Given the description of an element on the screen output the (x, y) to click on. 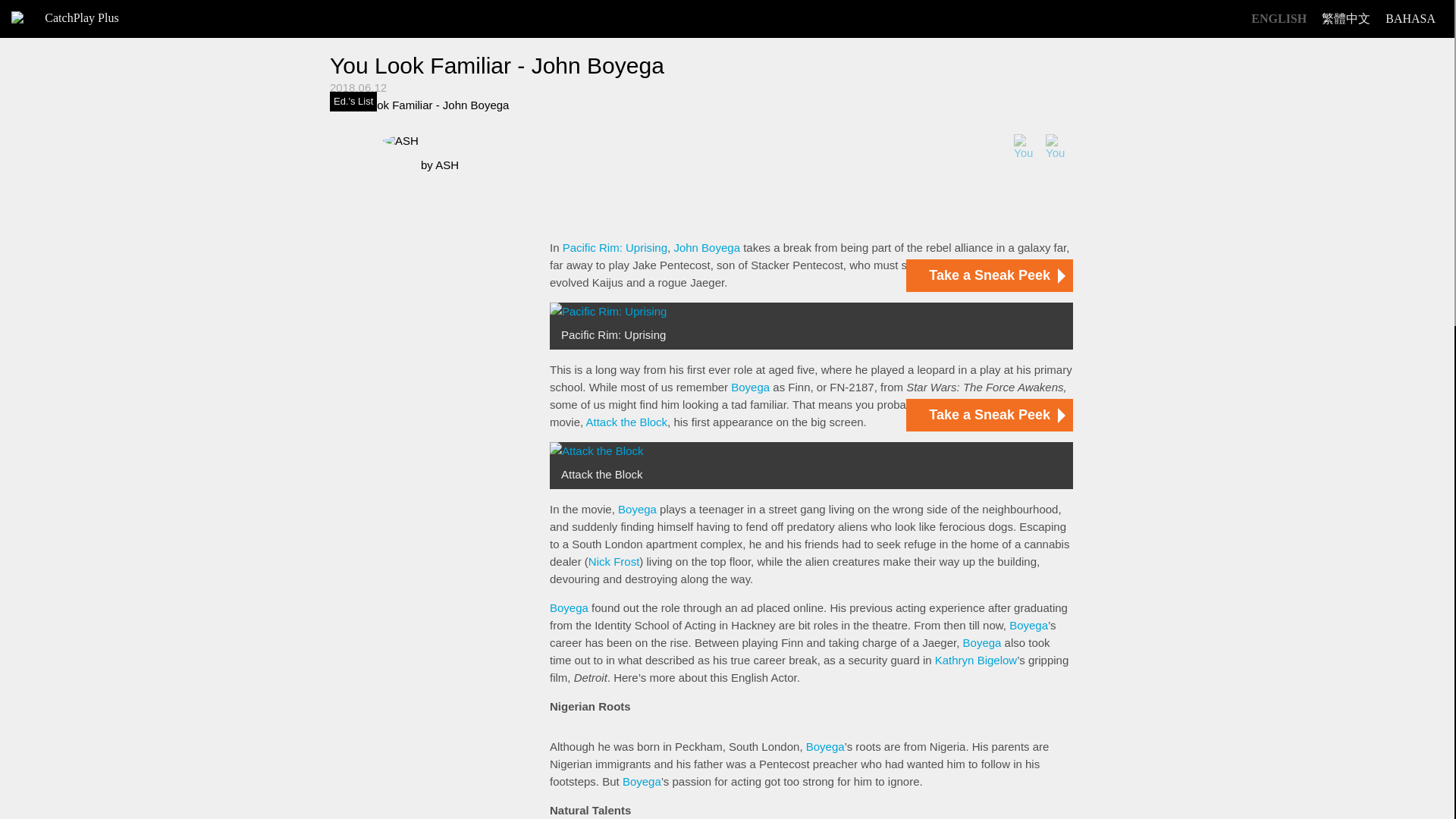
Boyega (1028, 625)
Kathryn Bigelow (975, 659)
ENGLISH (1278, 19)
Nick Frost (614, 561)
Boyega (636, 508)
Boyega (981, 642)
BAHASA (1409, 19)
Attack the Block (627, 421)
Pacific Rim: Uprising (614, 246)
Boyega (825, 746)
